Given the description of an element on the screen output the (x, y) to click on. 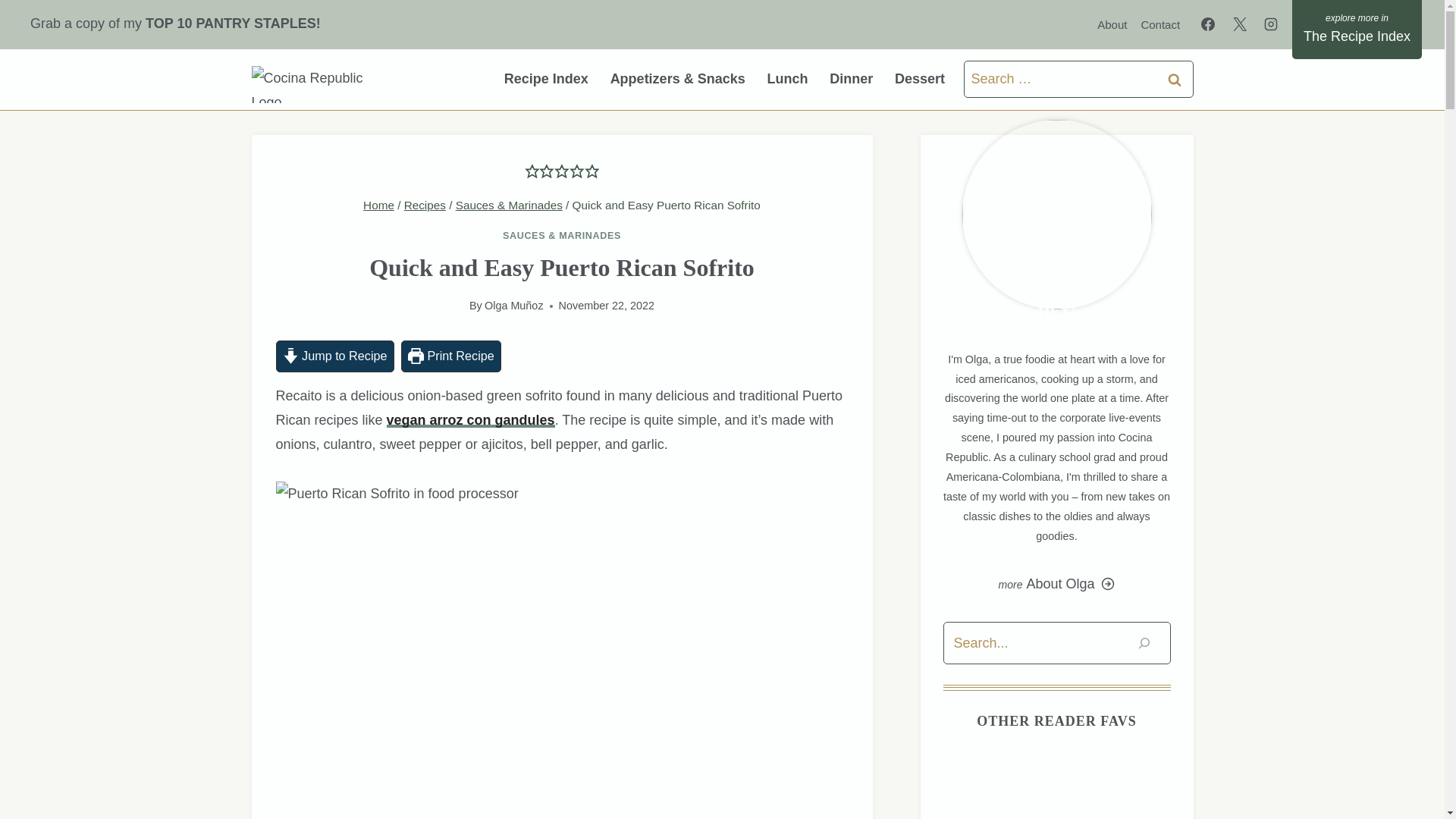
Dinner (850, 78)
Search (1174, 78)
Search (1174, 78)
Recipe Index (545, 78)
Recipes (424, 205)
Contact (1160, 24)
Search (1174, 78)
TOP 10 PANTRY STAPLES!   (237, 23)
vegan arroz con gandules (470, 419)
Jump to Recipe (335, 355)
Home (378, 205)
Lunch (786, 78)
Dessert (919, 78)
The Recipe Index (1357, 29)
About (1112, 24)
